Given the description of an element on the screen output the (x, y) to click on. 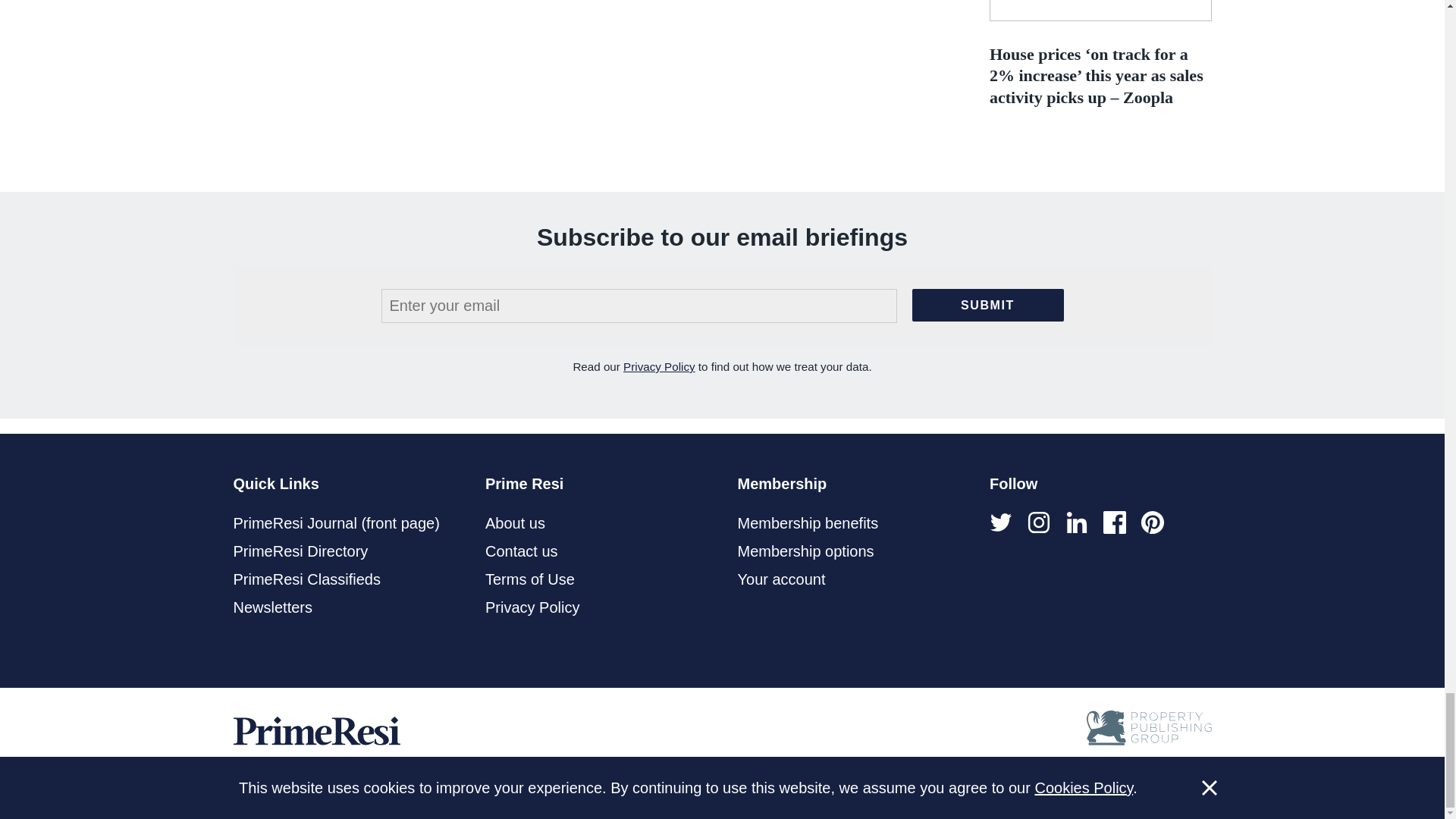
Submit (986, 305)
